Given the description of an element on the screen output the (x, y) to click on. 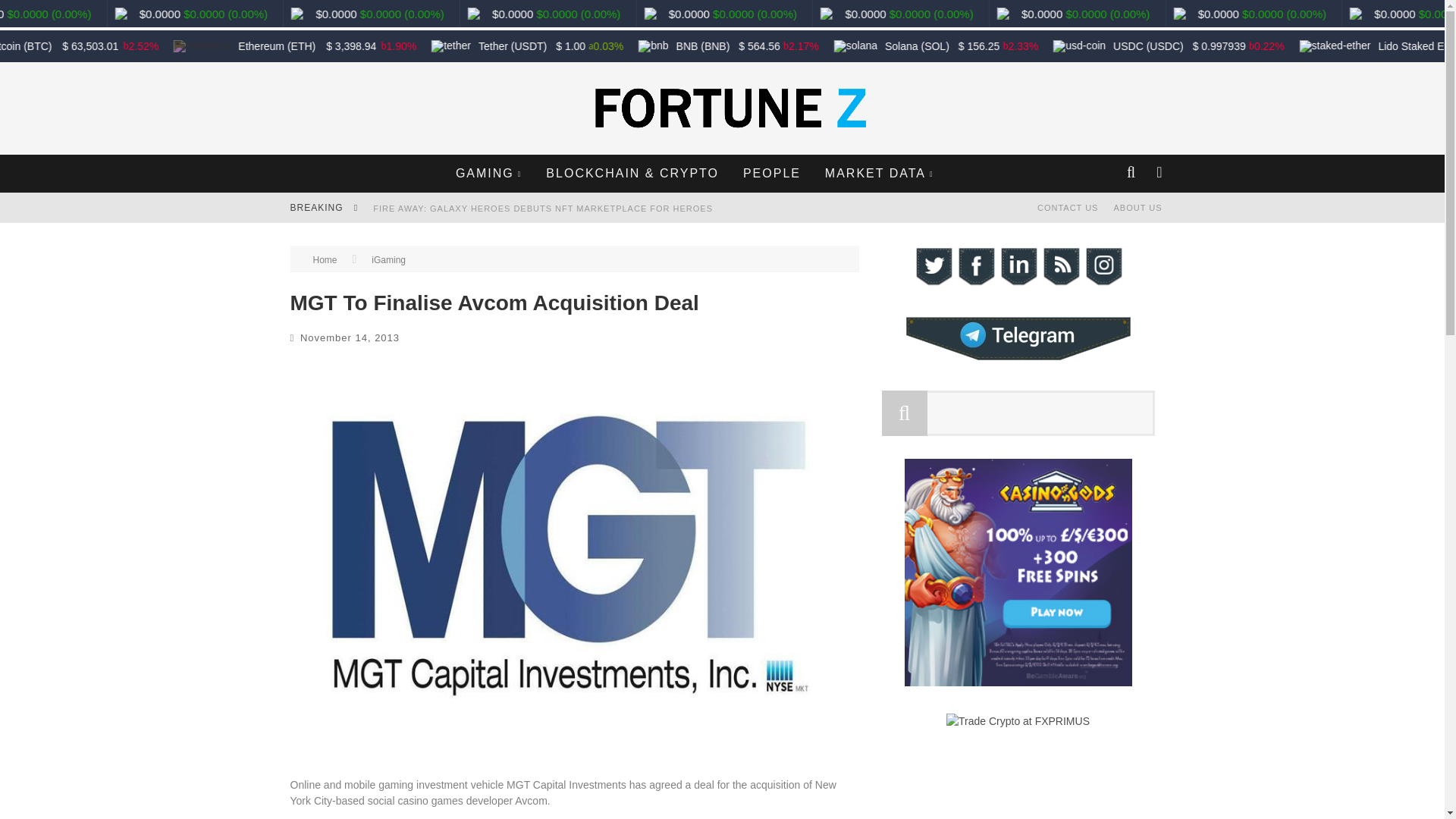
PEOPLE (772, 173)
Visit Us On Linkedin (1017, 283)
Check Our Feed (1060, 283)
Visit Us On Instagram (1102, 283)
View all posts in iGaming (388, 259)
Log In (721, 463)
Visit Us On Twitter (932, 283)
GAMING (489, 173)
Fire Away: Galaxy Heroes Debuts NFT Marketplace for Heroes (542, 207)
Visit Us On Facebook (974, 283)
